Given the description of an element on the screen output the (x, y) to click on. 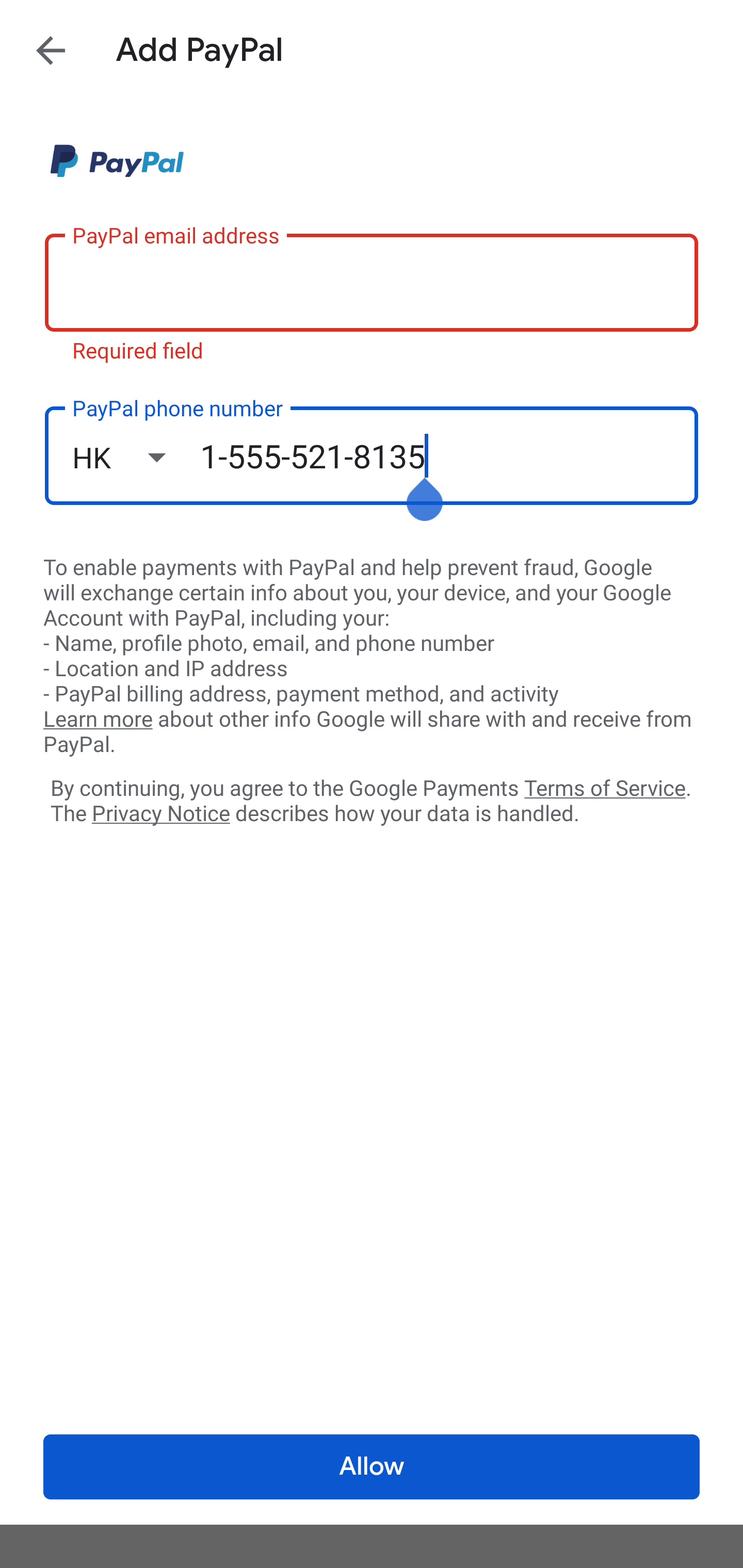
Navigate up (50, 50)
HK (135, 456)
Learn more (97, 719)
Terms of Service (604, 787)
Privacy Notice (160, 814)
Allow (371, 1466)
